Given the description of an element on the screen output the (x, y) to click on. 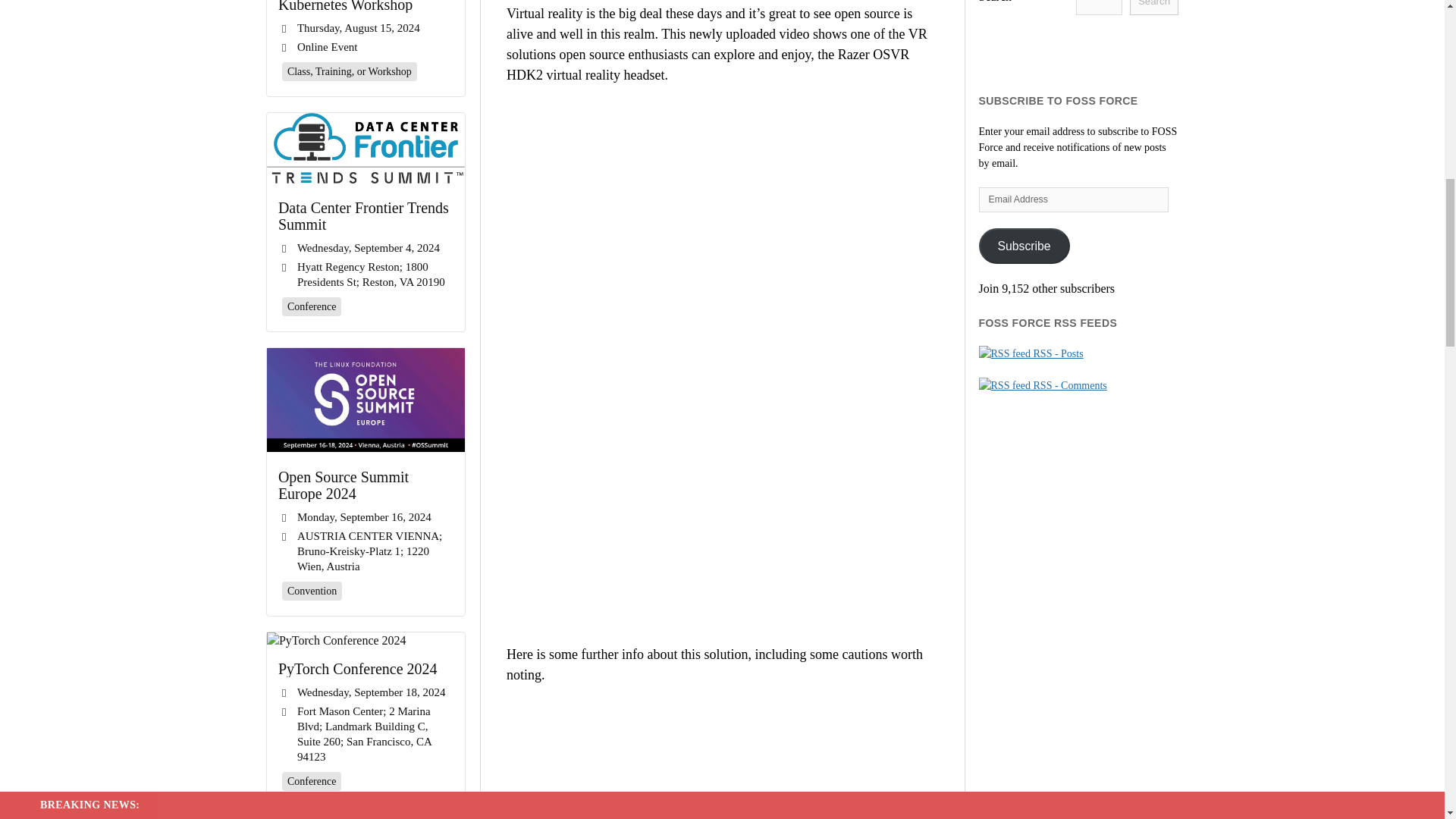
Convention (312, 590)
Data Center Frontier Trends Summit (366, 215)
Open Source Summit Europe 2024 (365, 400)
Data Center Frontier Trends Summit (365, 148)
Conference (312, 305)
PyTorch Conference 2024 (336, 641)
Class, Training, or Workshop (349, 70)
Open Source Summit Europe 2024 (366, 485)
